Given the description of an element on the screen output the (x, y) to click on. 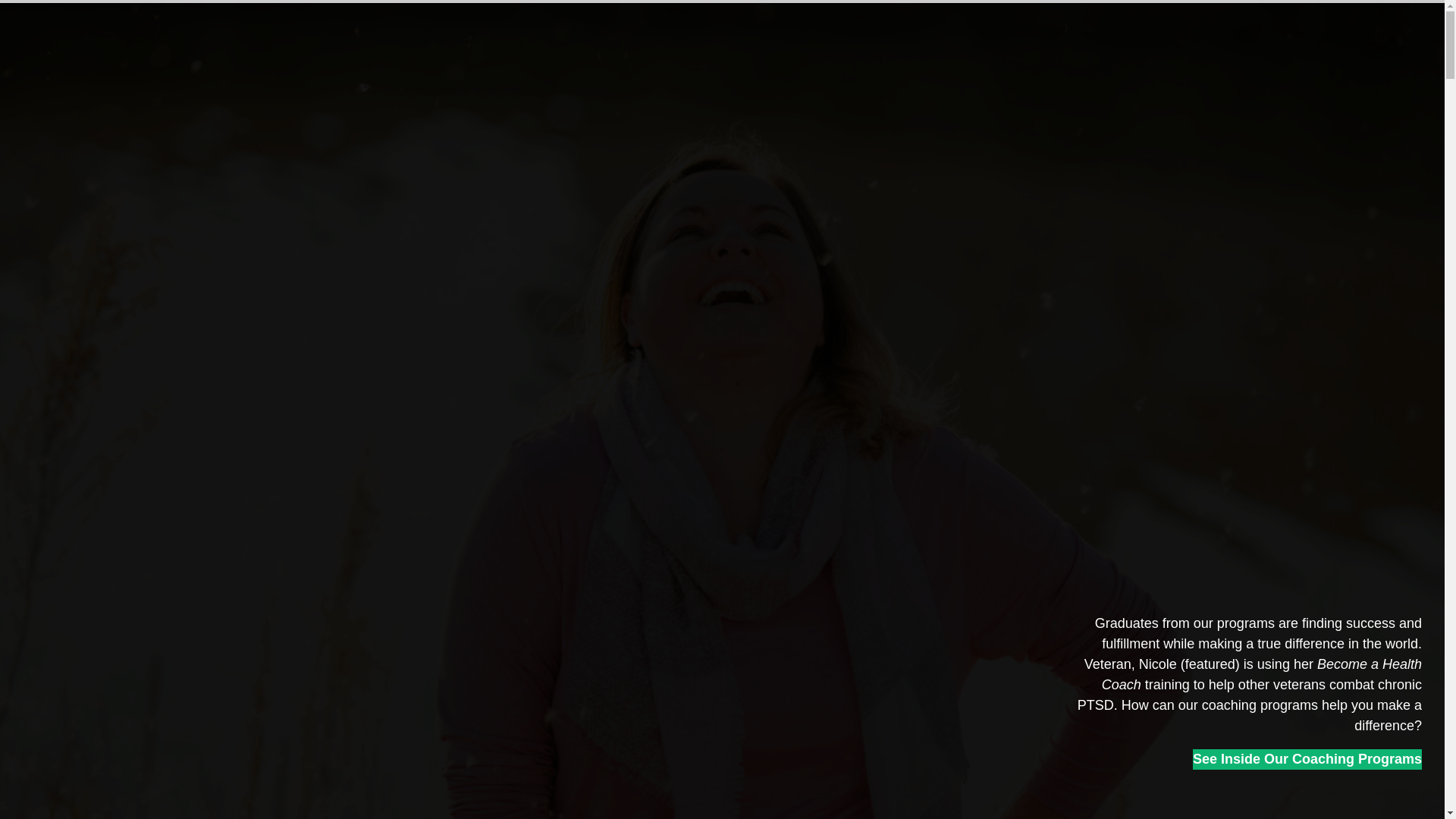
See Inside Our Coaching Programs (1307, 759)
